Given the description of an element on the screen output the (x, y) to click on. 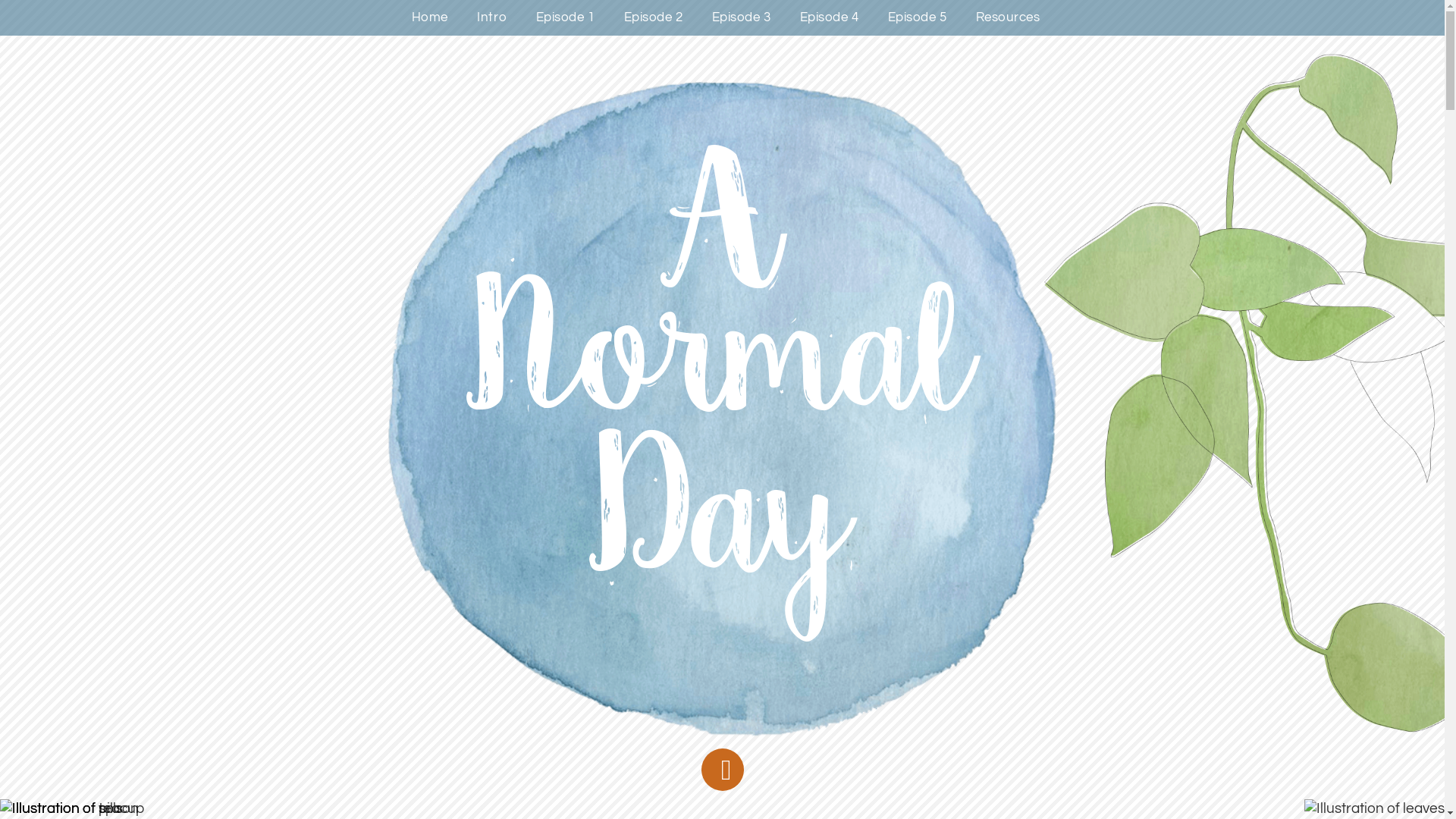
Episode 4 Element type: text (829, 17)
Resources Element type: text (1007, 17)
Learn More Element type: text (721, 769)
Episode 3 Element type: text (741, 17)
Home Element type: text (429, 17)
Episode 1 Element type: text (565, 17)
Episode 5 Element type: text (917, 17)
Episode 2 Element type: text (653, 17)
Intro Element type: text (491, 17)
